Given the description of an element on the screen output the (x, y) to click on. 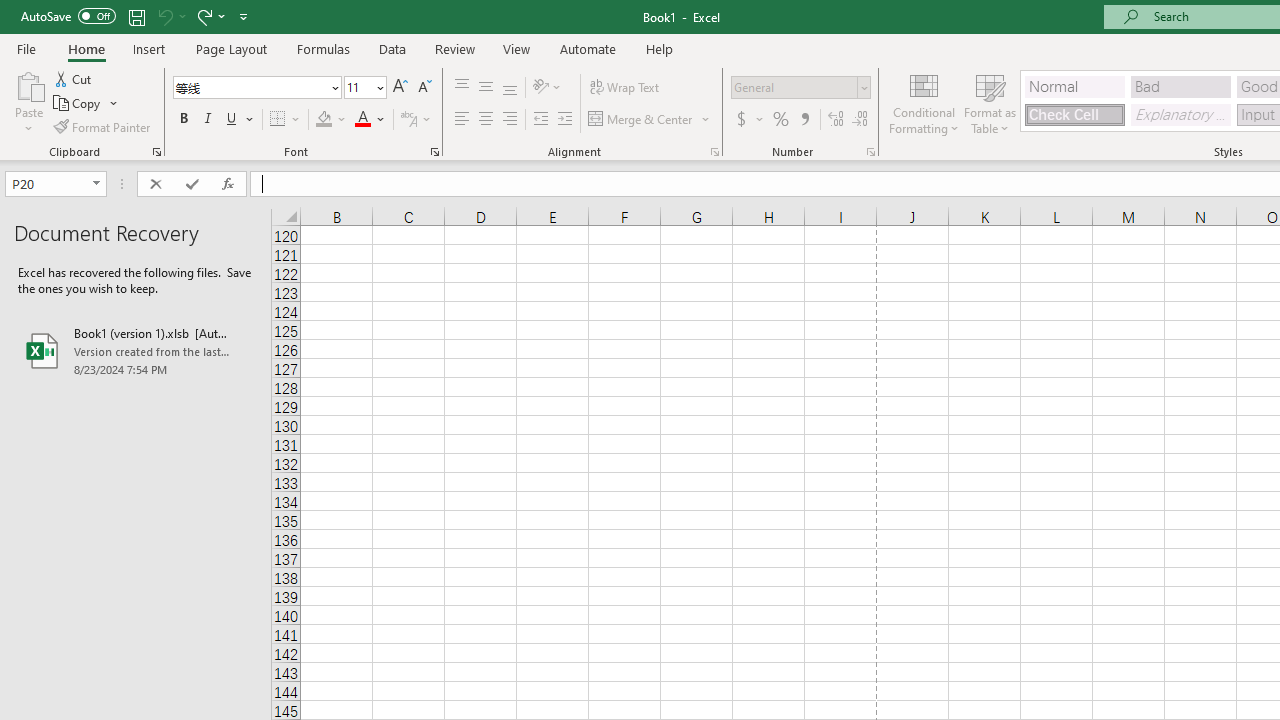
Automate (588, 48)
Format Cell Number (870, 151)
Copy (85, 103)
Wrap Text (624, 87)
Office Clipboard... (156, 151)
Increase Indent (565, 119)
Increase Font Size (399, 87)
Center (485, 119)
Accounting Number Format (741, 119)
